Given the description of an element on the screen output the (x, y) to click on. 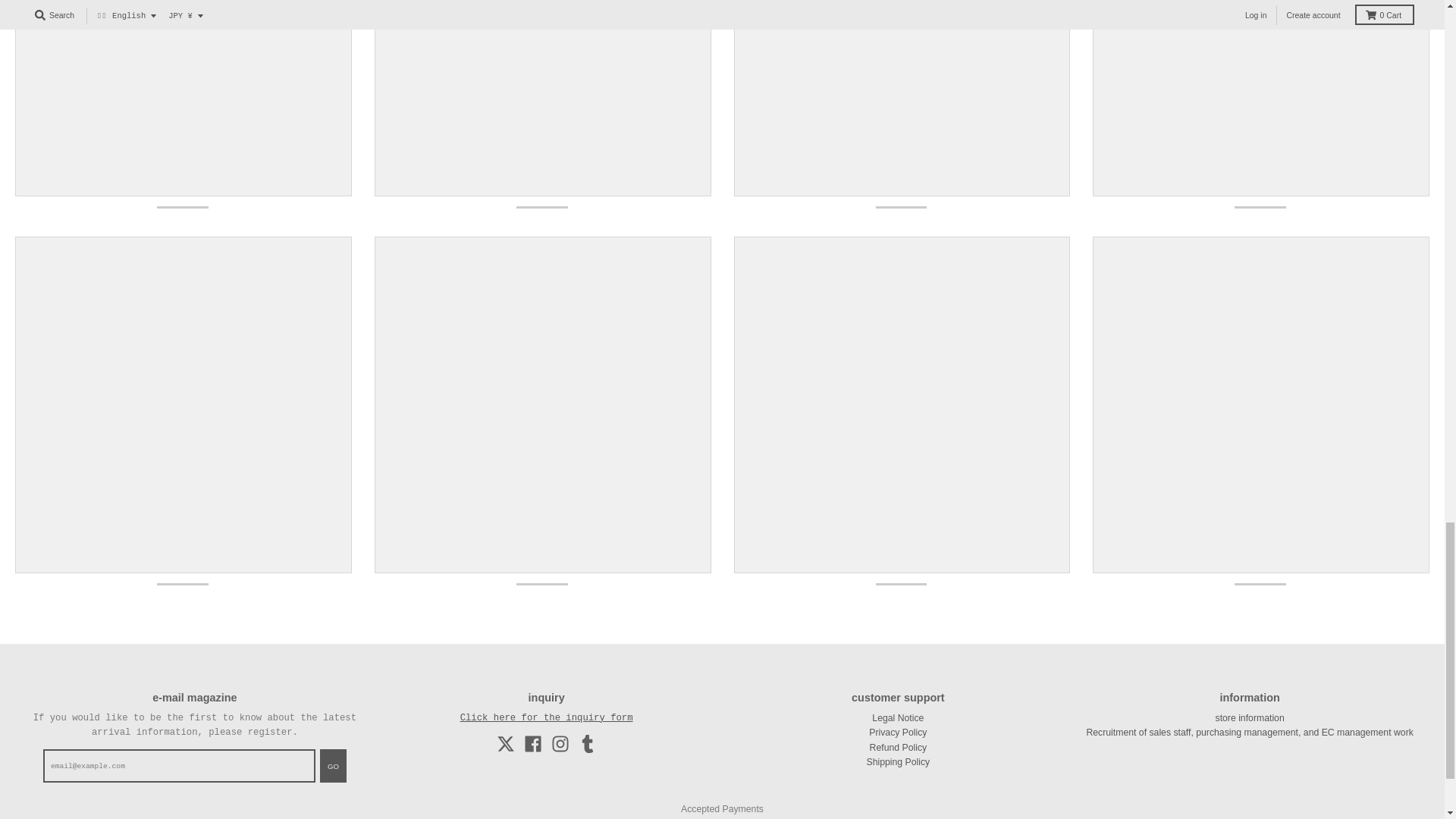
Instagram - RADD LOUNGE (560, 743)
Facebook - RADD LOUNGE (532, 743)
Tumblr - RADD LOUNGE (587, 743)
Twitter - RADD LOUNGE (505, 743)
